Given the description of an element on the screen output the (x, y) to click on. 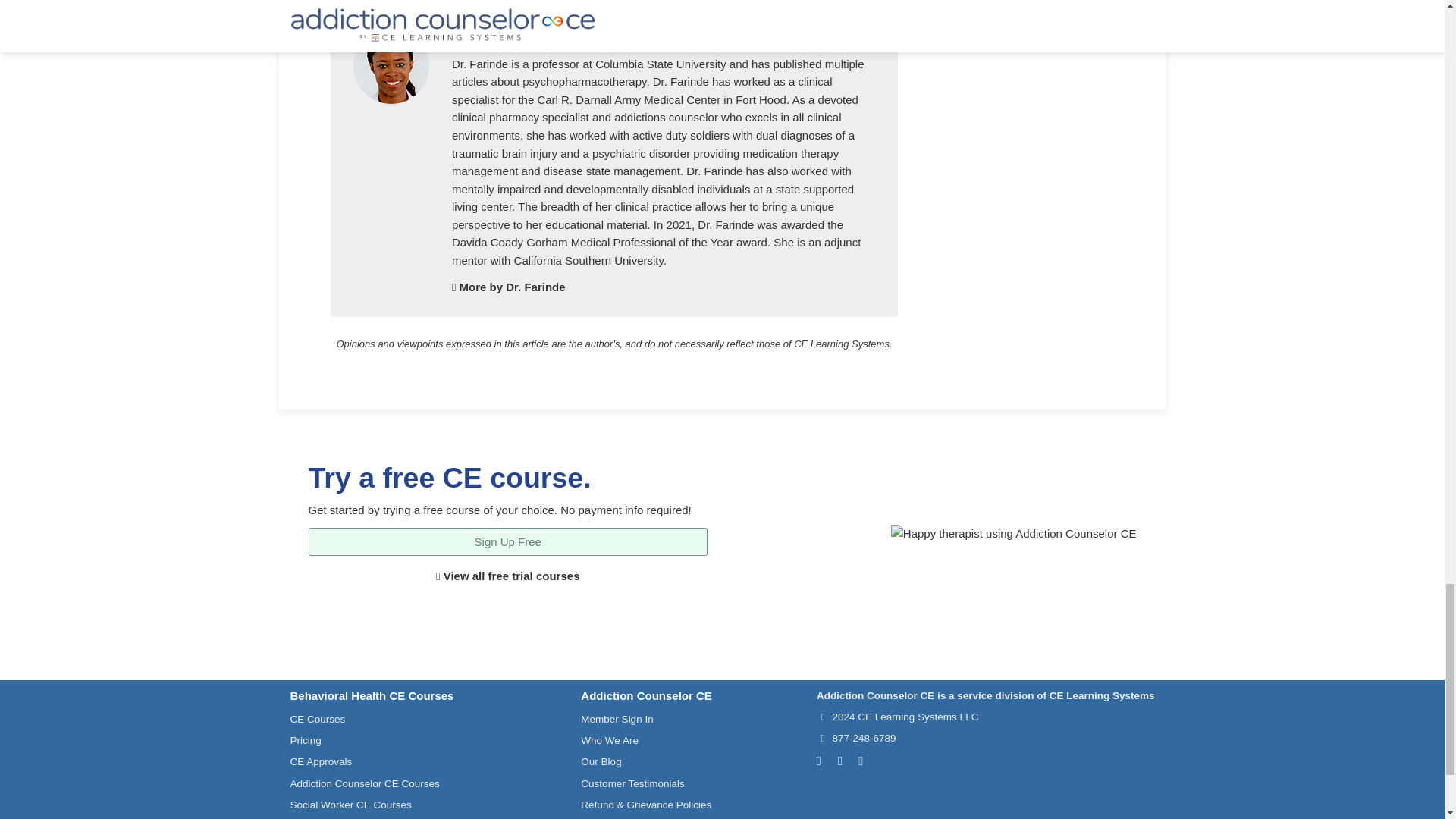
Social Worker CE Courses (349, 804)
Refund and Grievance Policy (645, 804)
Addiction Counselor CE Courses (364, 783)
View all free trial courses (507, 575)
Sign Up Free (507, 541)
More by Dr. Farinde (508, 286)
CE Approvals (320, 761)
Pricing (304, 740)
CE Courses (317, 718)
